Given the description of an element on the screen output the (x, y) to click on. 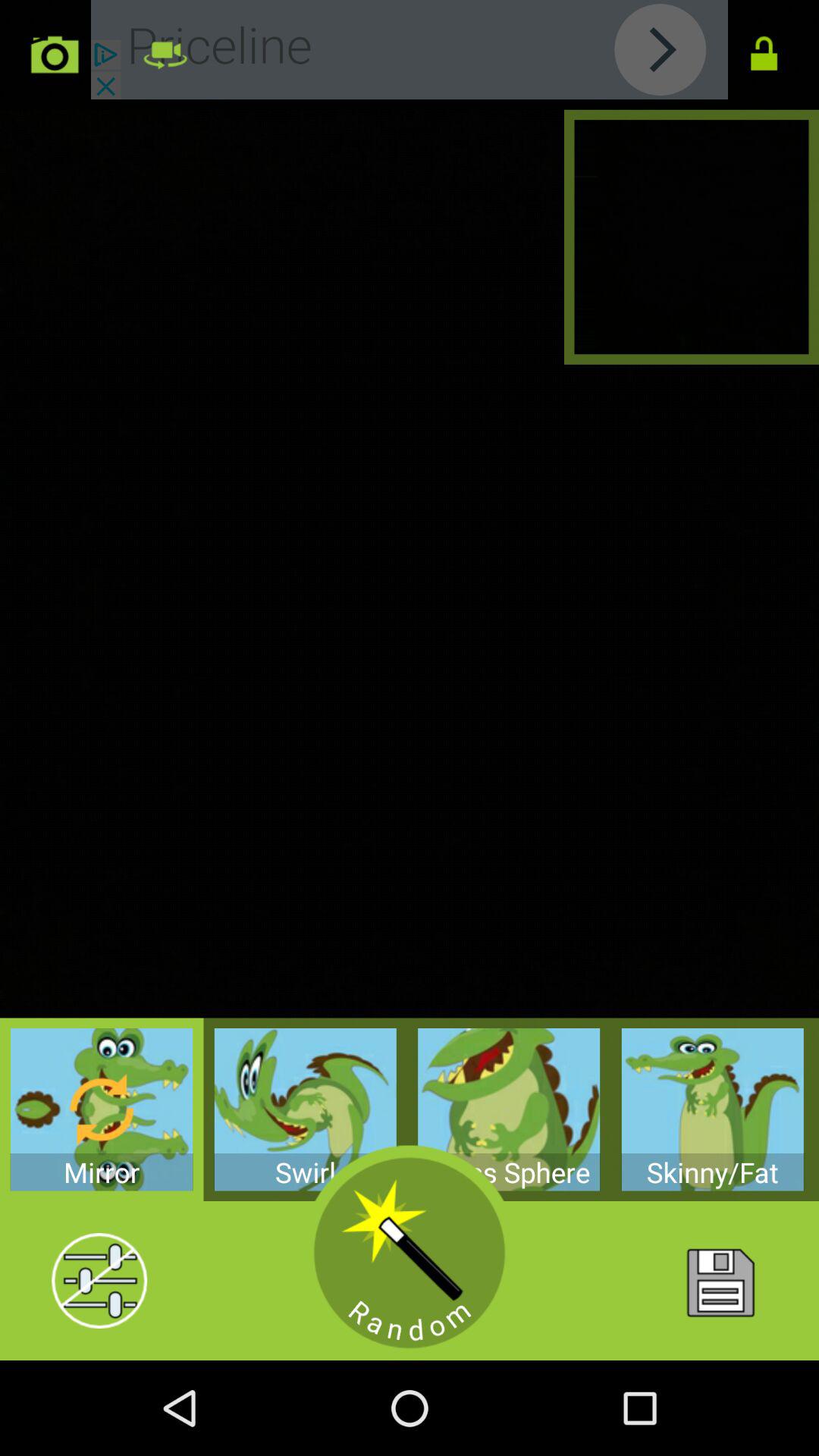
home button (719, 1280)
